Given the description of an element on the screen output the (x, y) to click on. 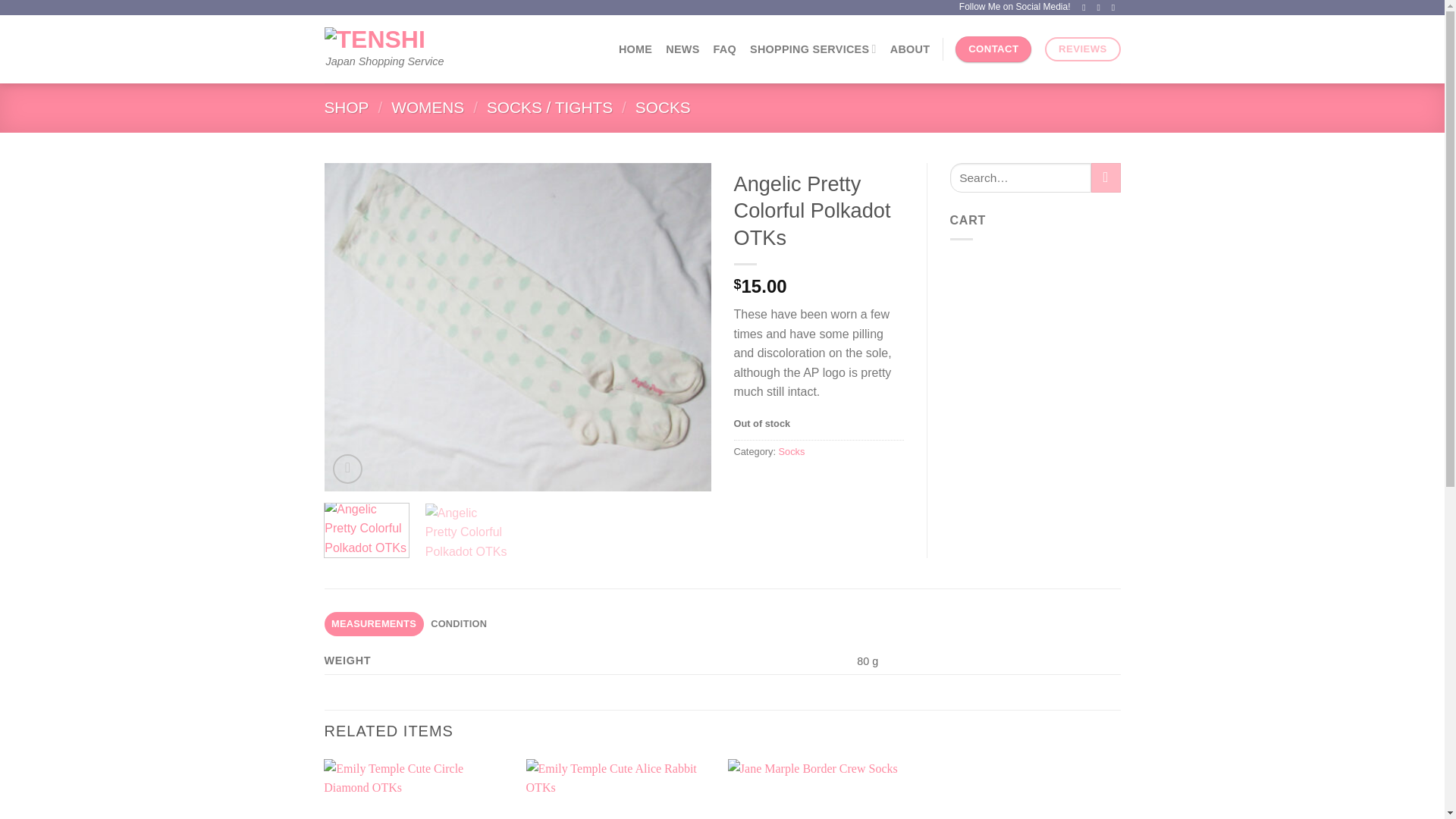
Search (1105, 177)
SHOPPING SERVICES (812, 48)
Tenshi Shop - Japan Shopping Service (384, 39)
SOCKS (662, 107)
WOMENS (427, 107)
ABOUT (909, 49)
CONDITION (459, 623)
Socks (791, 451)
HOME (635, 49)
CONTACT (992, 49)
